Given the description of an element on the screen output the (x, y) to click on. 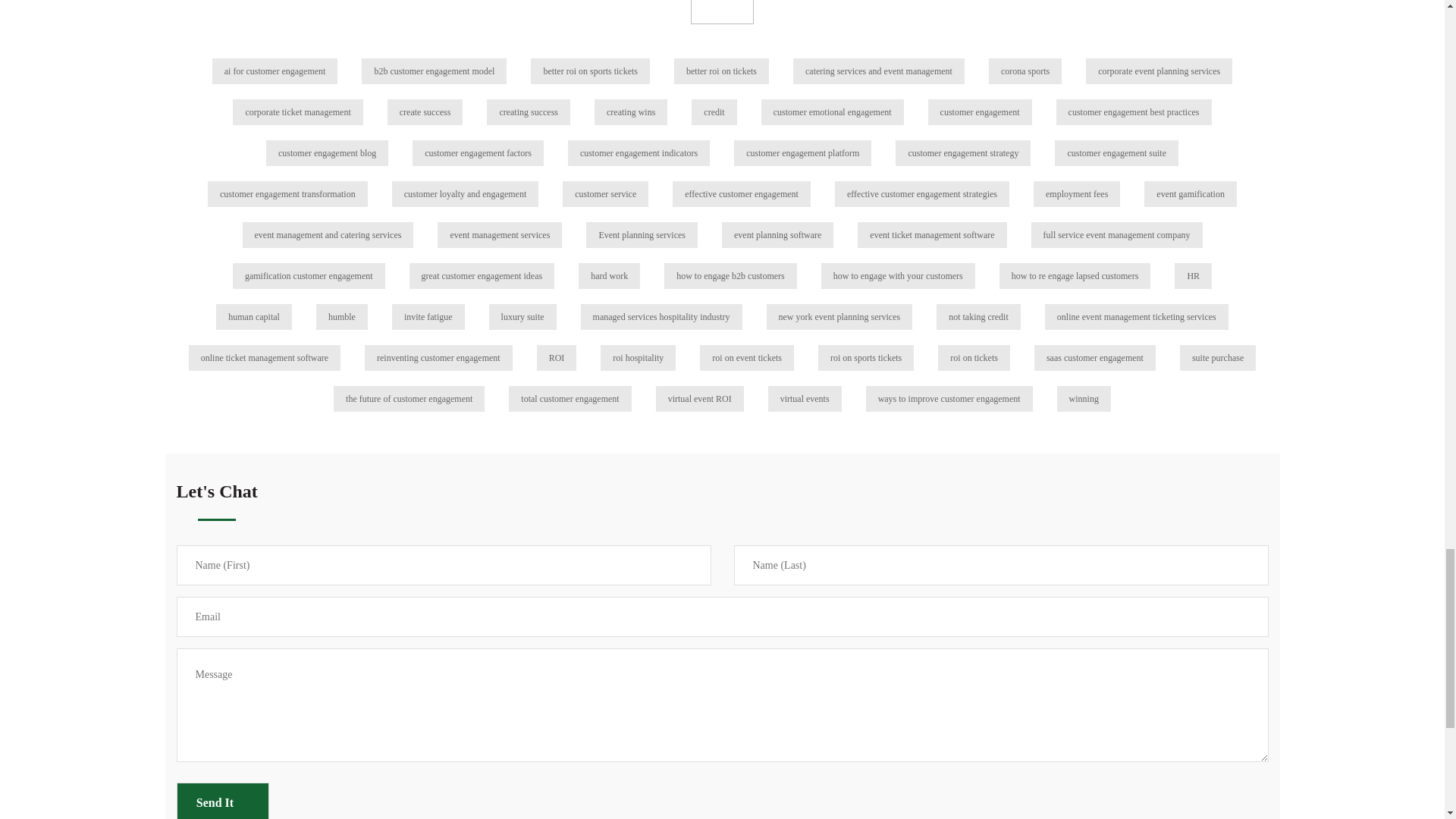
better roi on tickets (721, 71)
catering services and event management (878, 71)
b2b customer engagement model (434, 71)
better roi on sports tickets (590, 71)
Send It (221, 800)
ai for customer engagement (275, 71)
